Given the description of an element on the screen output the (x, y) to click on. 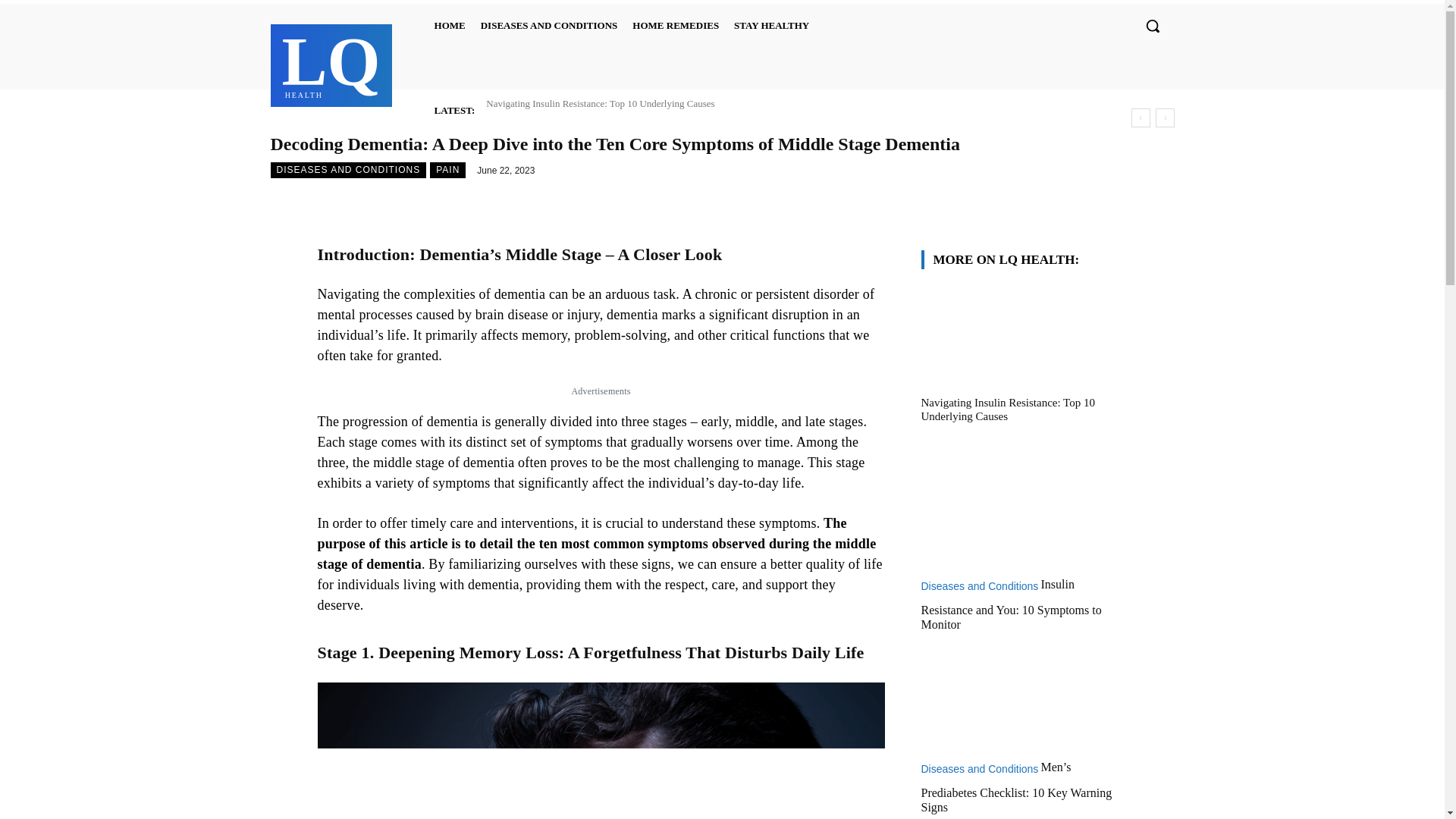
DISEASES AND CONDITIONS (347, 170)
STAY HEALTHY (771, 25)
Navigating Insulin Resistance: Top 10 Underlying Causes (600, 102)
DISEASES AND CONDITIONS (549, 25)
HOME REMEDIES (675, 25)
HOME (331, 63)
Navigating Insulin Resistance: Top 10 Underlying Causes (449, 25)
